Given the description of an element on the screen output the (x, y) to click on. 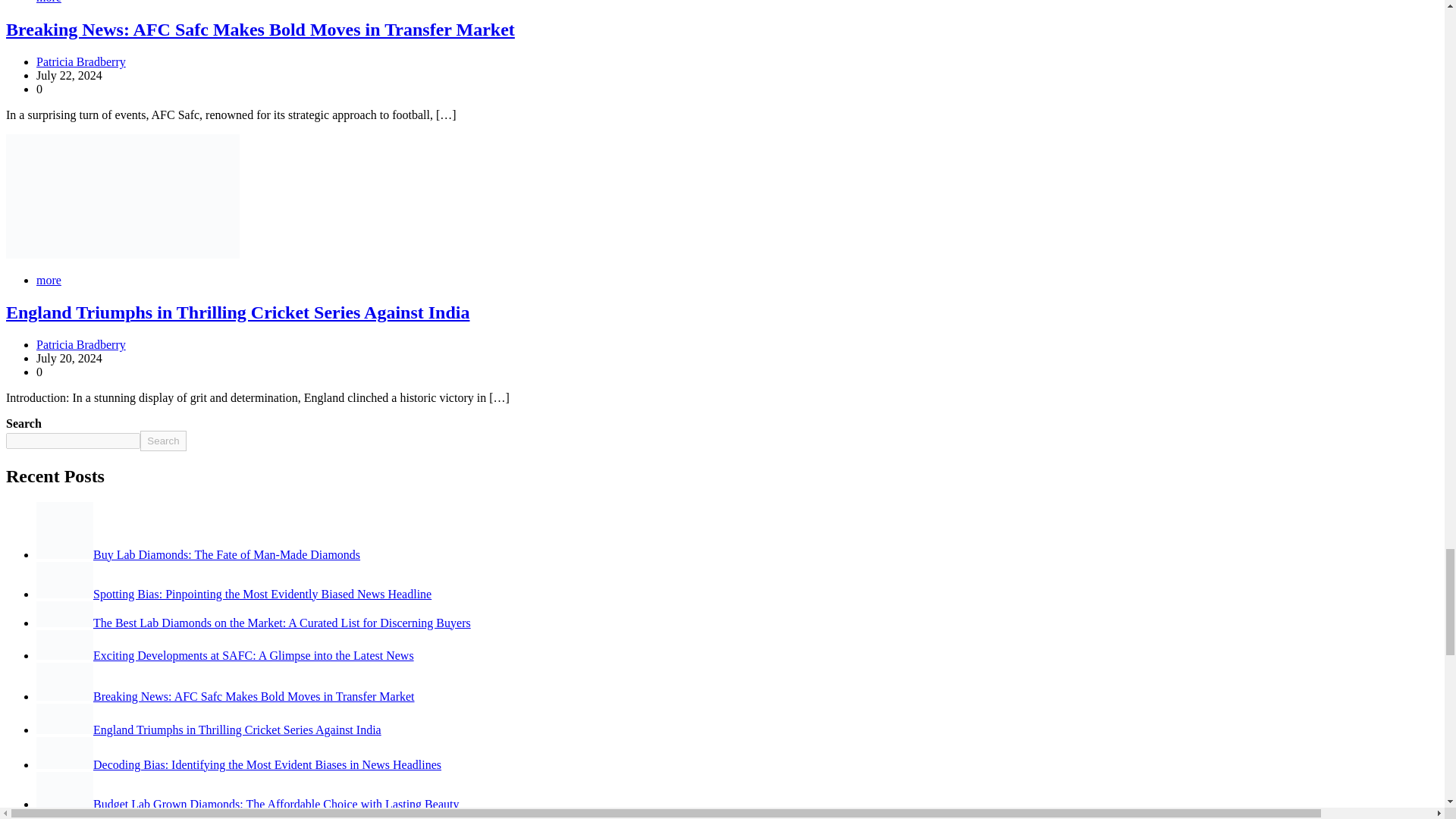
Patricia Bradberry (80, 344)
England Triumphs in Thrilling Cricket Series Against India (236, 312)
Breaking News: AFC Safc Makes Bold Moves in Transfer Market (260, 29)
Patricia Bradberry (80, 61)
more (48, 2)
more (48, 279)
